Given the description of an element on the screen output the (x, y) to click on. 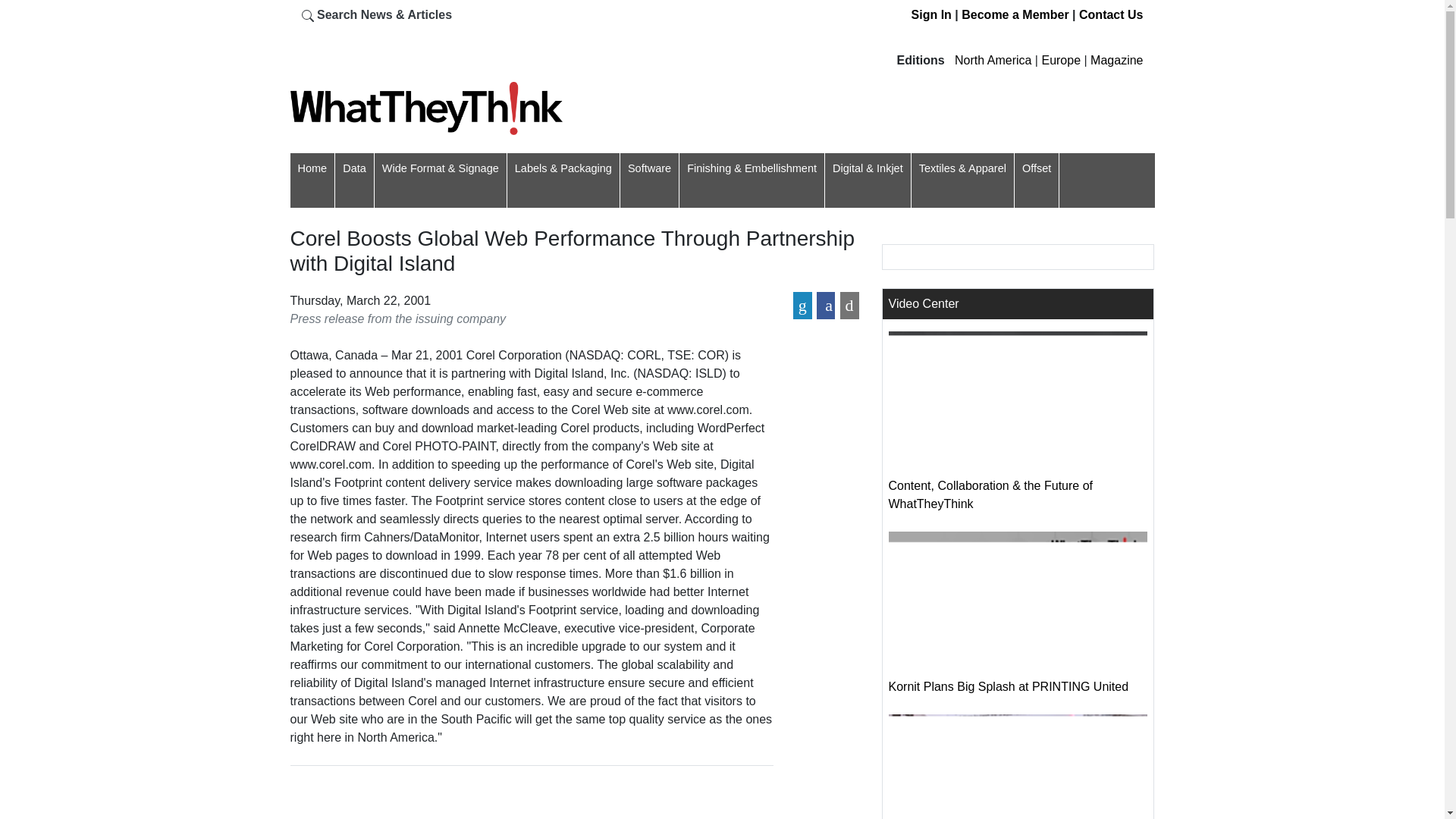
Data (354, 168)
Contact Us (1110, 14)
Home (311, 168)
Become a Member (1014, 14)
Software (649, 168)
Europe (1060, 60)
North America (992, 60)
Magazine (1116, 60)
Sign In (931, 14)
